Given the description of an element on the screen output the (x, y) to click on. 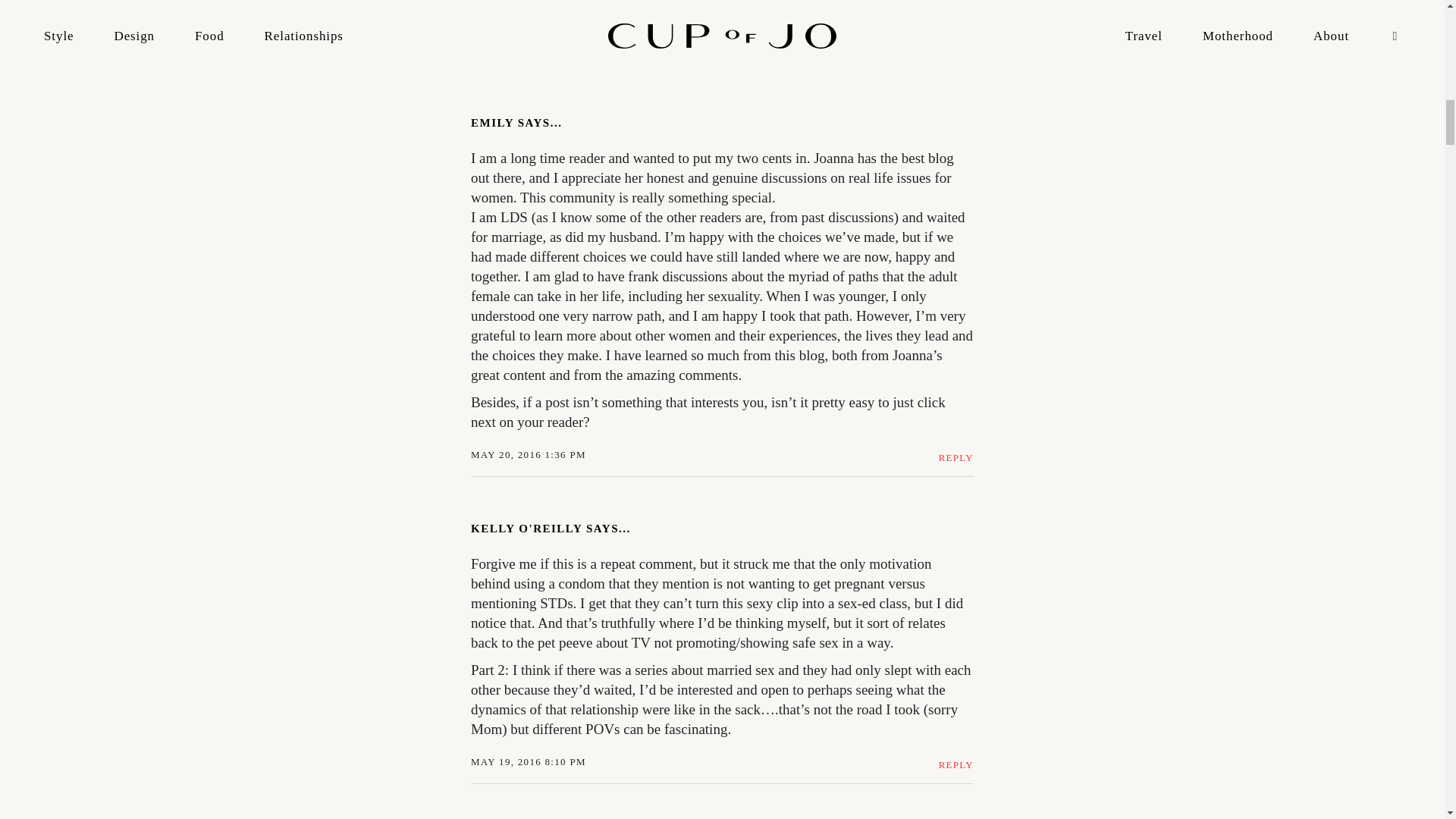
May 21, 2016 1:46 pm (532, 49)
May 20, 2016 1:36 pm (532, 454)
May 19, 2016 8:10 pm (532, 761)
